Given the description of an element on the screen output the (x, y) to click on. 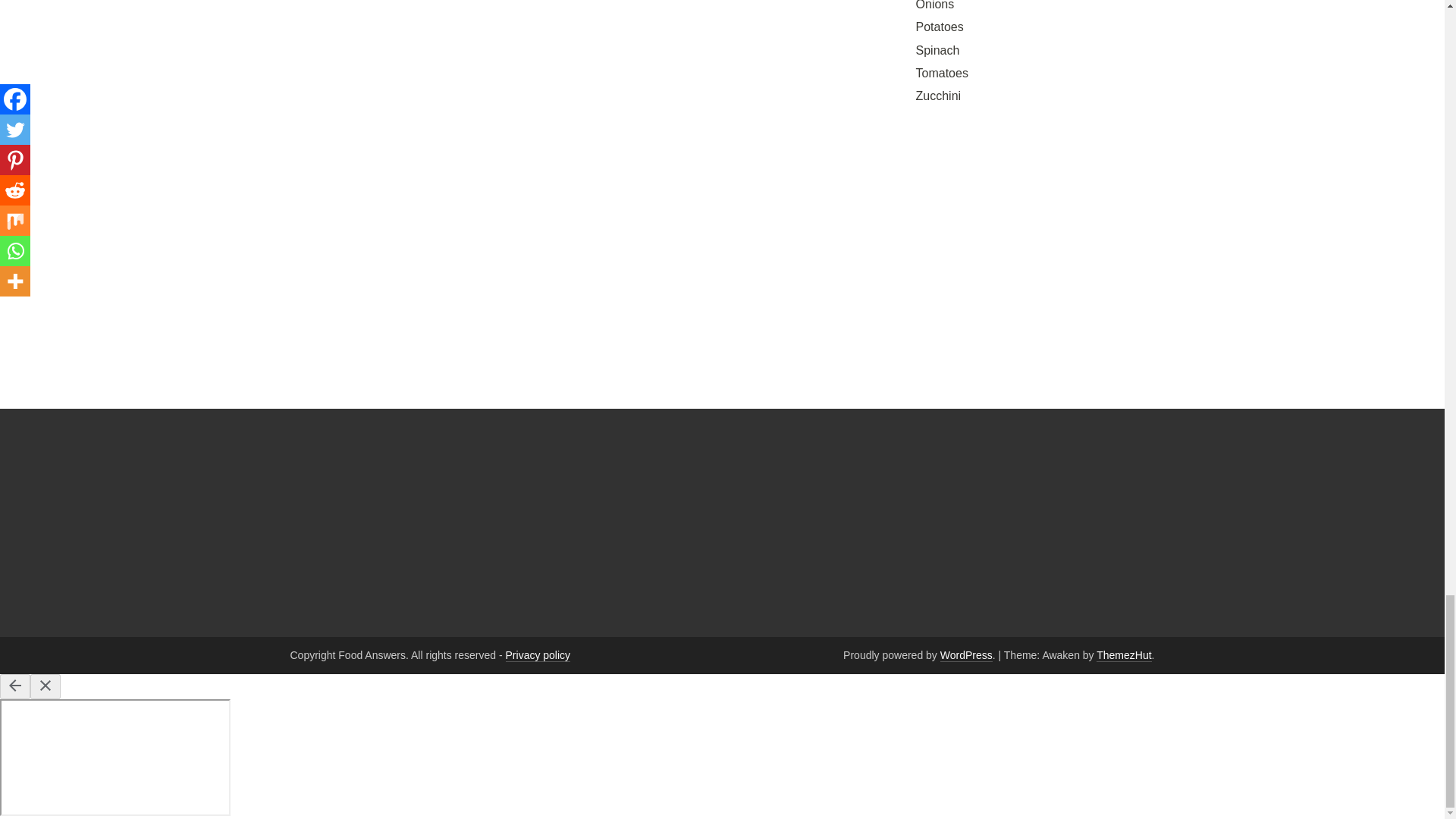
WordPress (966, 655)
